Given the description of an element on the screen output the (x, y) to click on. 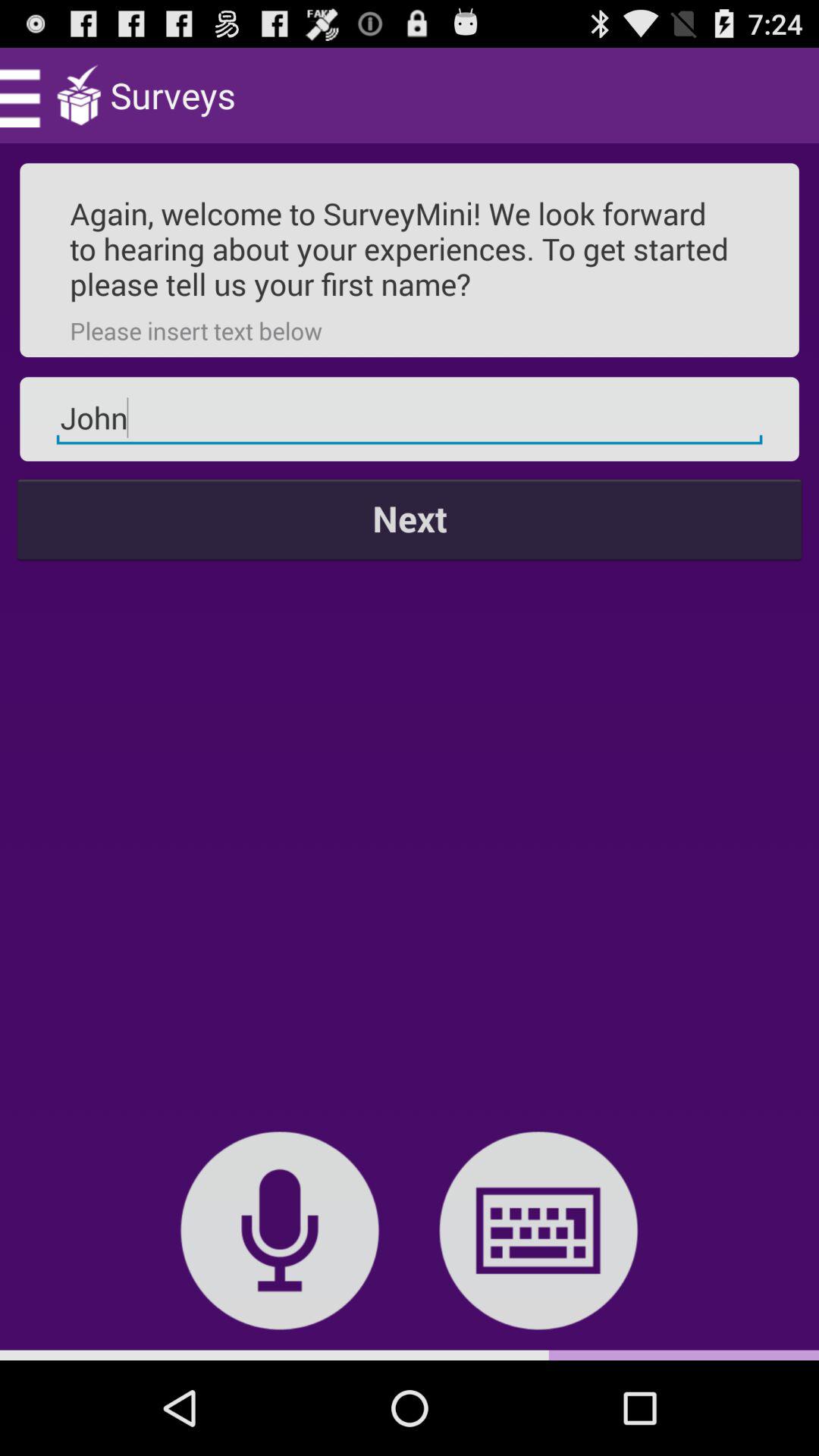
turn off the icon at the center (409, 518)
